Given the description of an element on the screen output the (x, y) to click on. 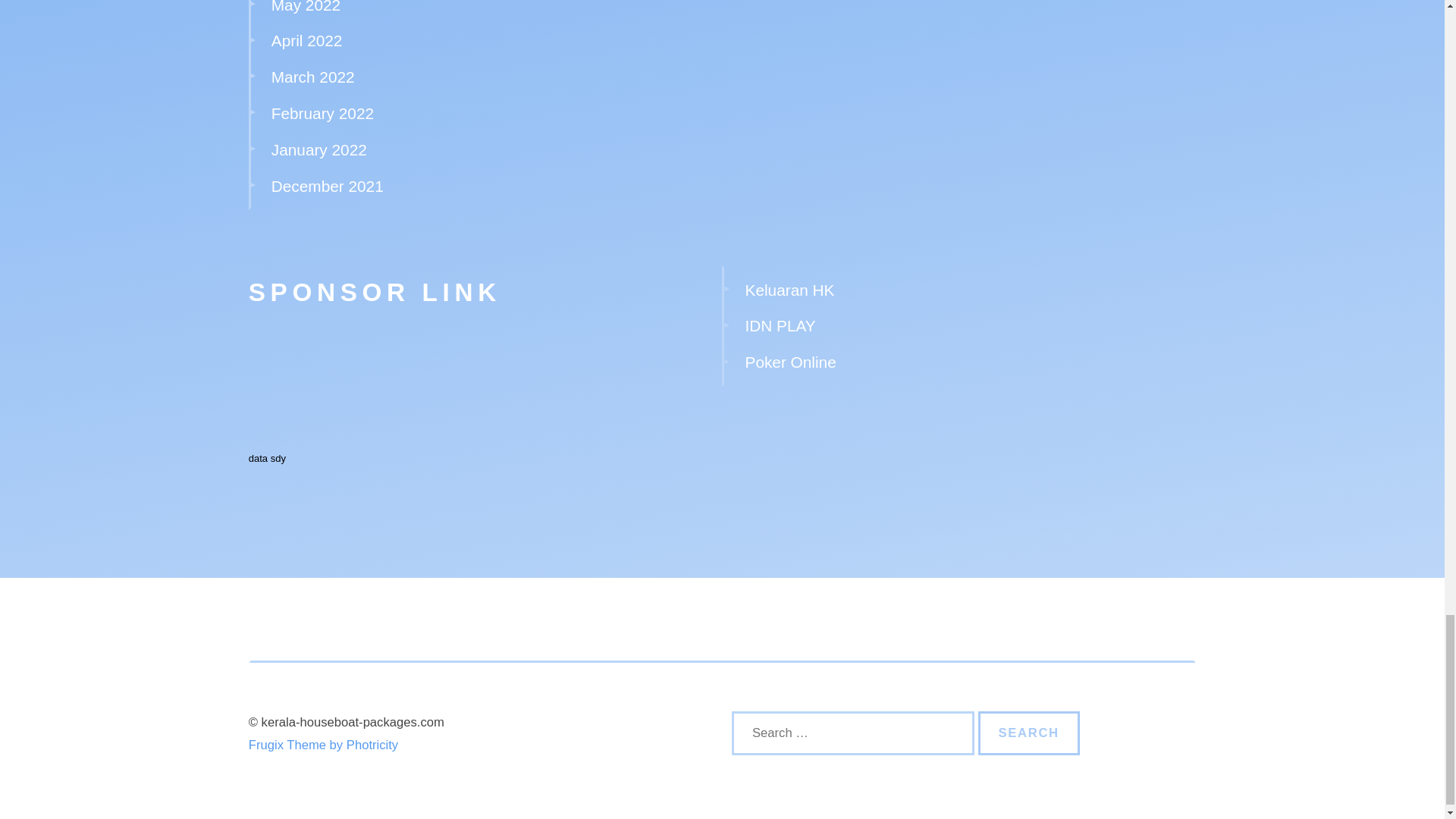
May 2022 (305, 6)
April 2022 (306, 40)
March 2022 (312, 76)
Search (1029, 733)
Search (1029, 733)
February 2022 (322, 113)
